Given the description of an element on the screen output the (x, y) to click on. 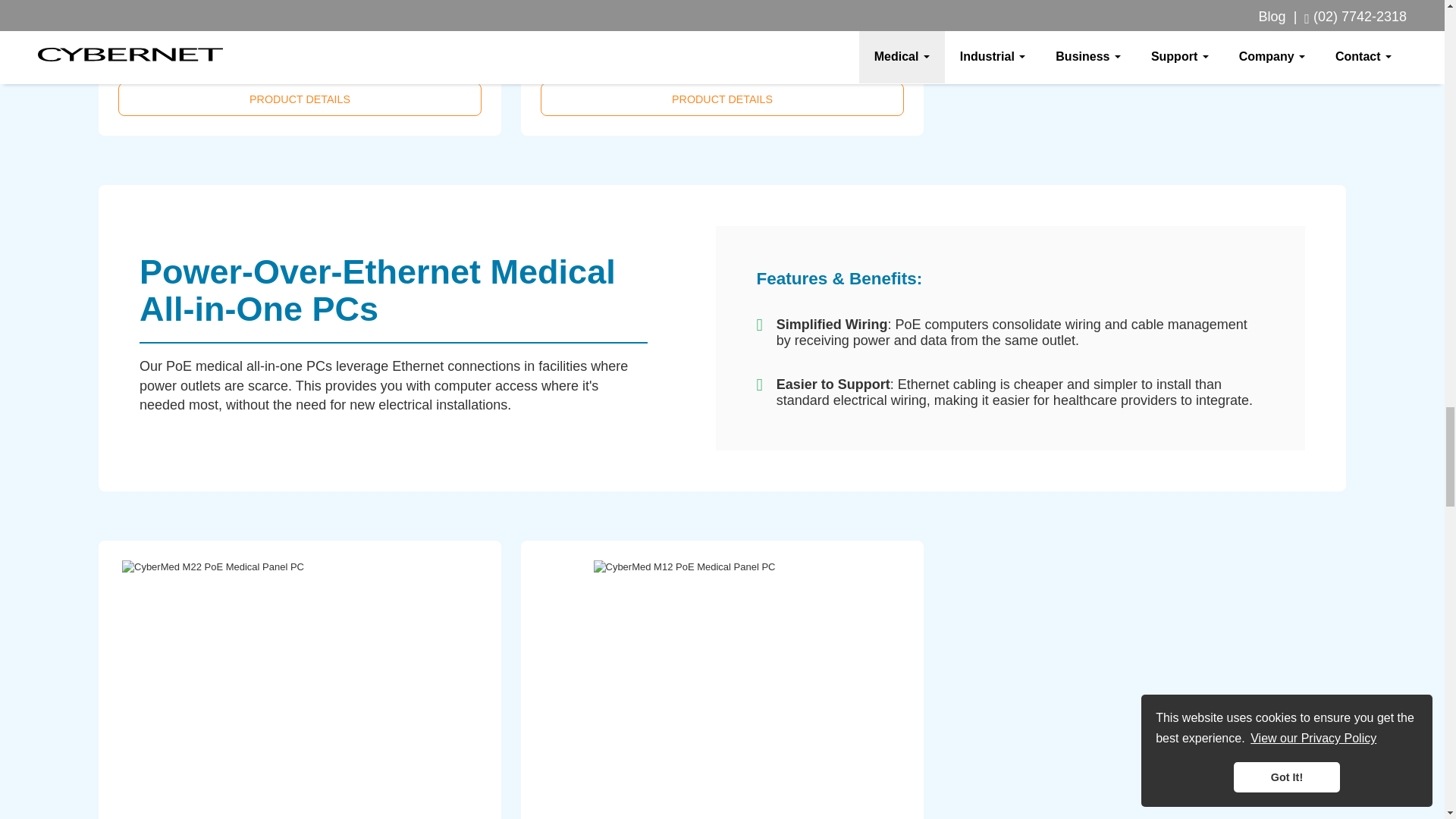
259 (160, 55)
254 (583, 55)
